Given the description of an element on the screen output the (x, y) to click on. 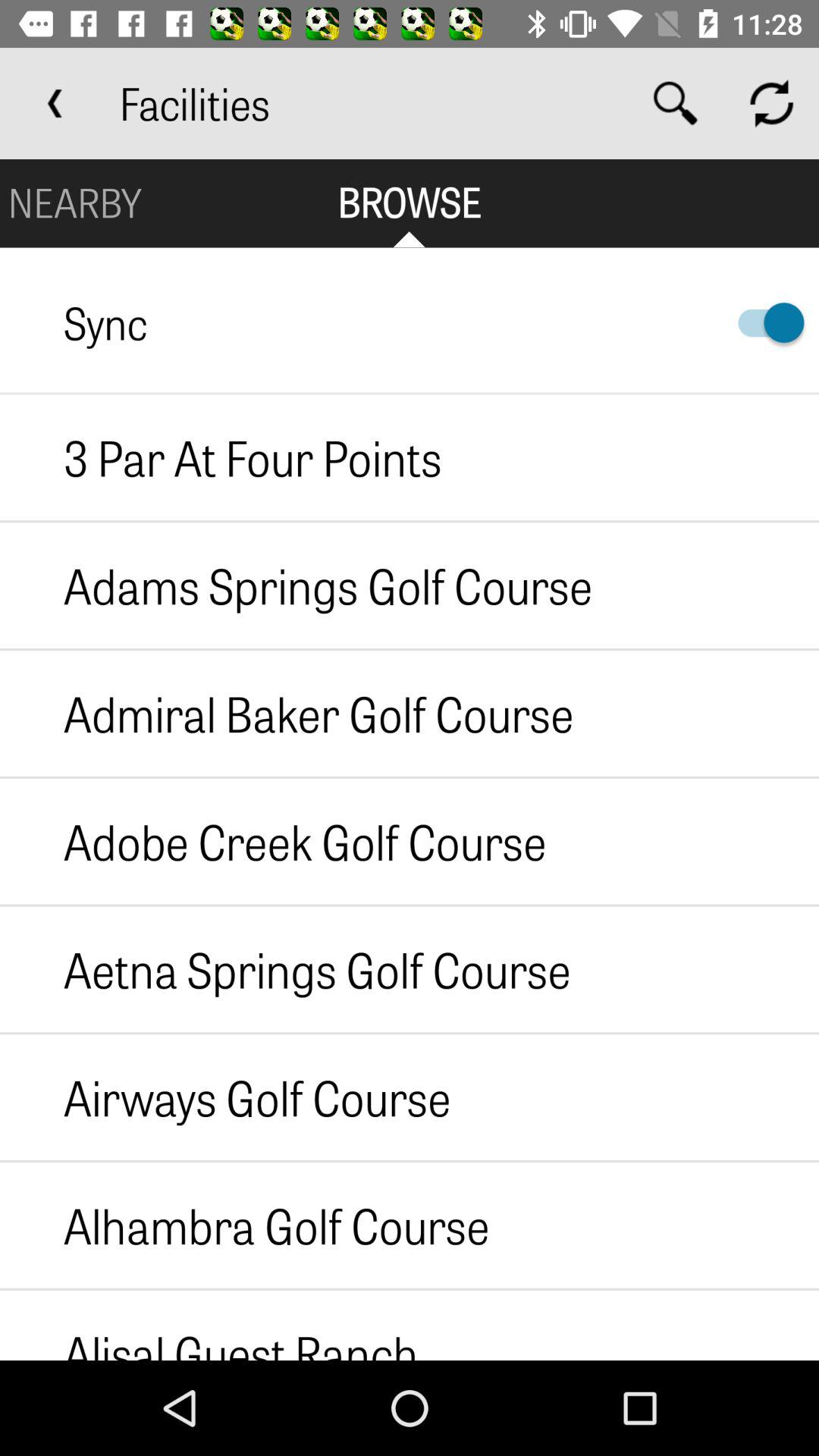
open item next to the sync item (763, 322)
